Given the description of an element on the screen output the (x, y) to click on. 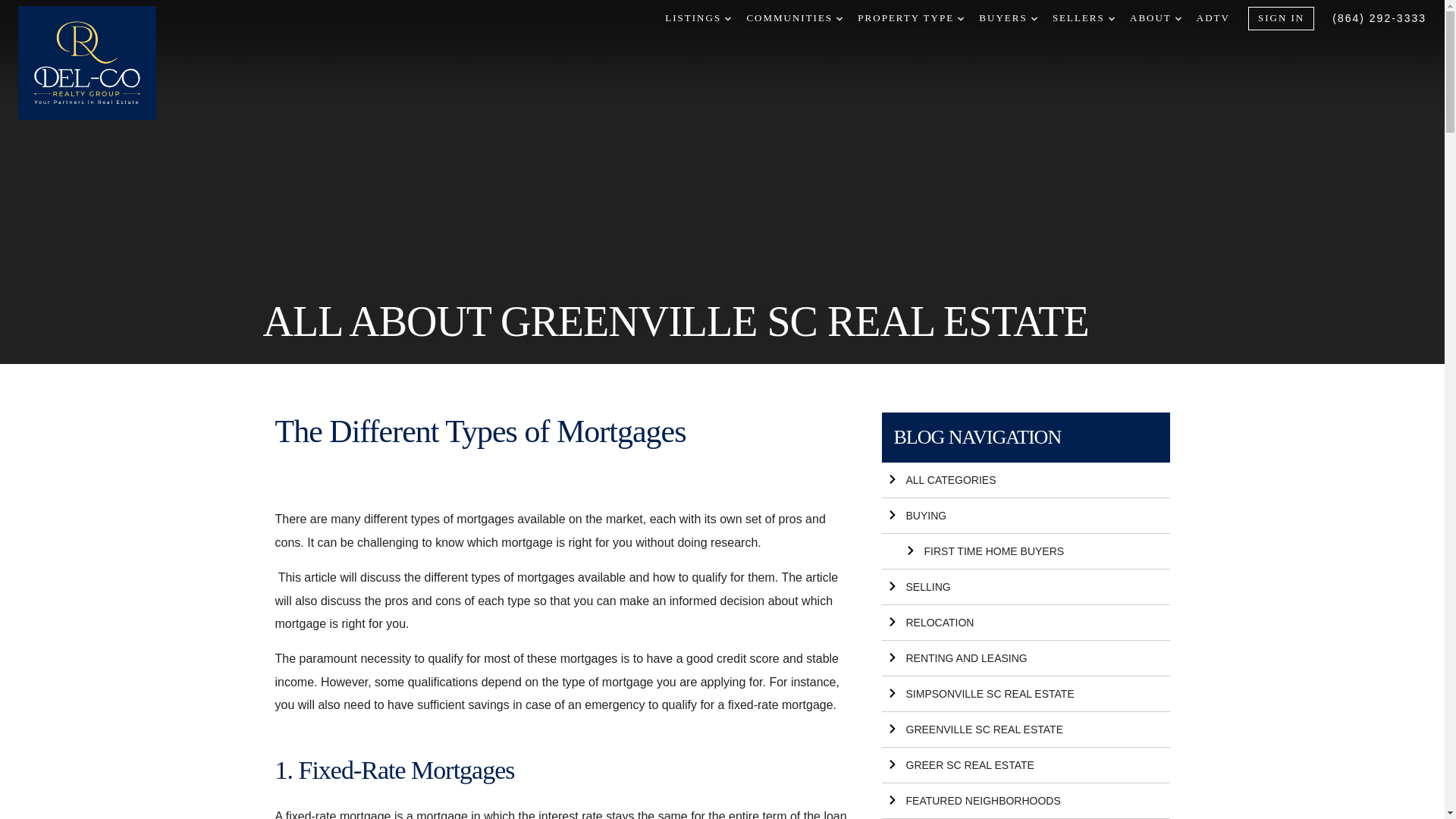
SELLERS DROPDOWN ARROW (1083, 18)
PROPERTY TYPE DROPDOWN ARROW (910, 18)
LISTINGS DROPDOWN ARROW (697, 18)
DROPDOWN ARROW (1111, 18)
DROPDOWN ARROW (727, 18)
BUYERS DROPDOWN ARROW (1007, 18)
ABOUT DROPDOWN ARROW (1154, 18)
DROPDOWN ARROW (839, 18)
DROPDOWN ARROW (1177, 18)
COMMUNITIES DROPDOWN ARROW (794, 18)
